Given the description of an element on the screen output the (x, y) to click on. 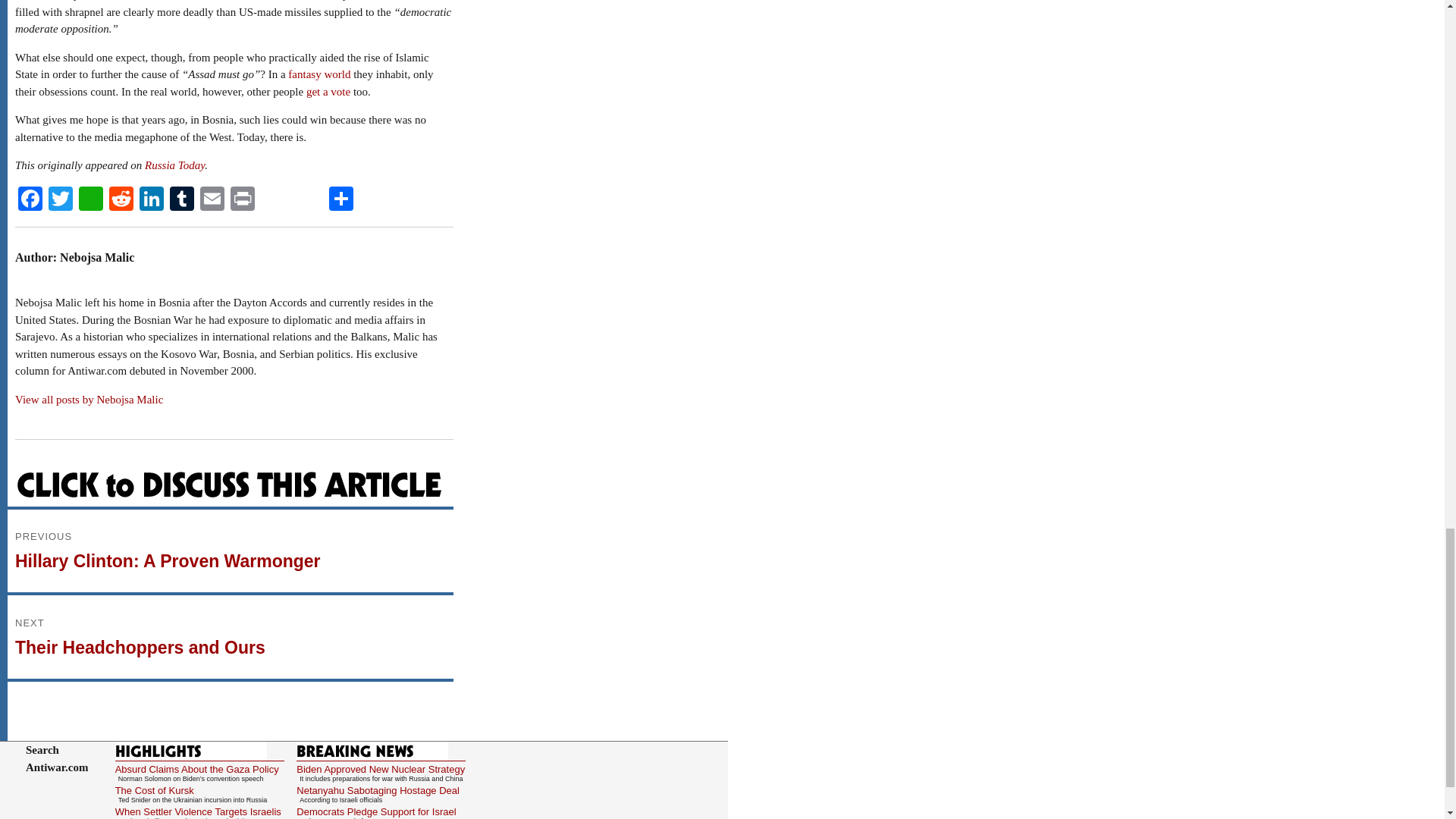
Twitter (60, 200)
get a vote (327, 91)
Print (242, 200)
Tumblr (181, 200)
LinkedIn (151, 200)
WhatsApp (90, 200)
Reddit (121, 200)
Facebook (29, 200)
Twitter (60, 200)
Russia Today (174, 164)
